Given the description of an element on the screen output the (x, y) to click on. 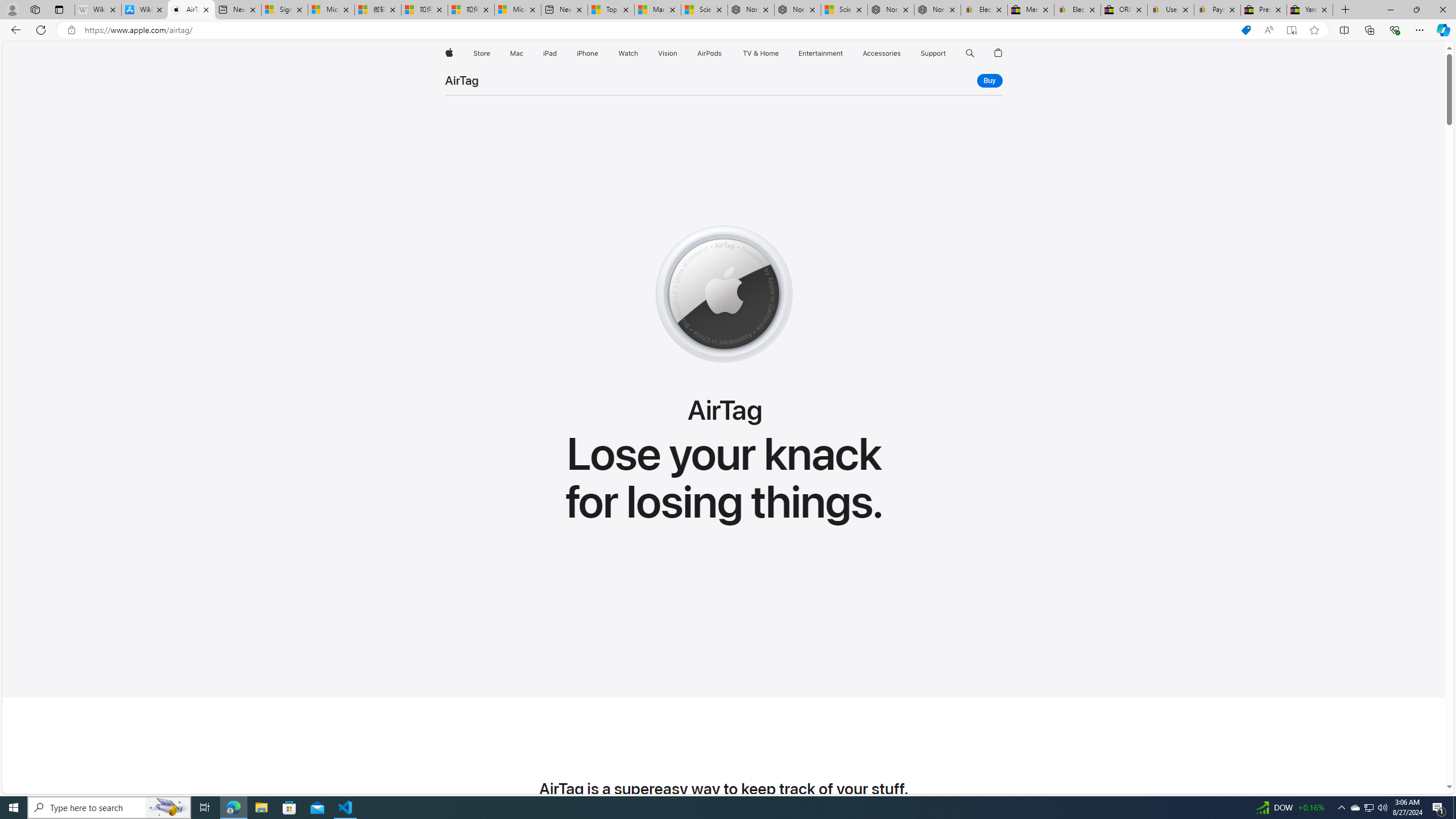
TV & Home (759, 53)
Mac (516, 53)
Nordace - FAQ (937, 9)
Sign in to your Microsoft account (284, 9)
iPhone menu (600, 53)
iPad (550, 53)
